Given the description of an element on the screen output the (x, y) to click on. 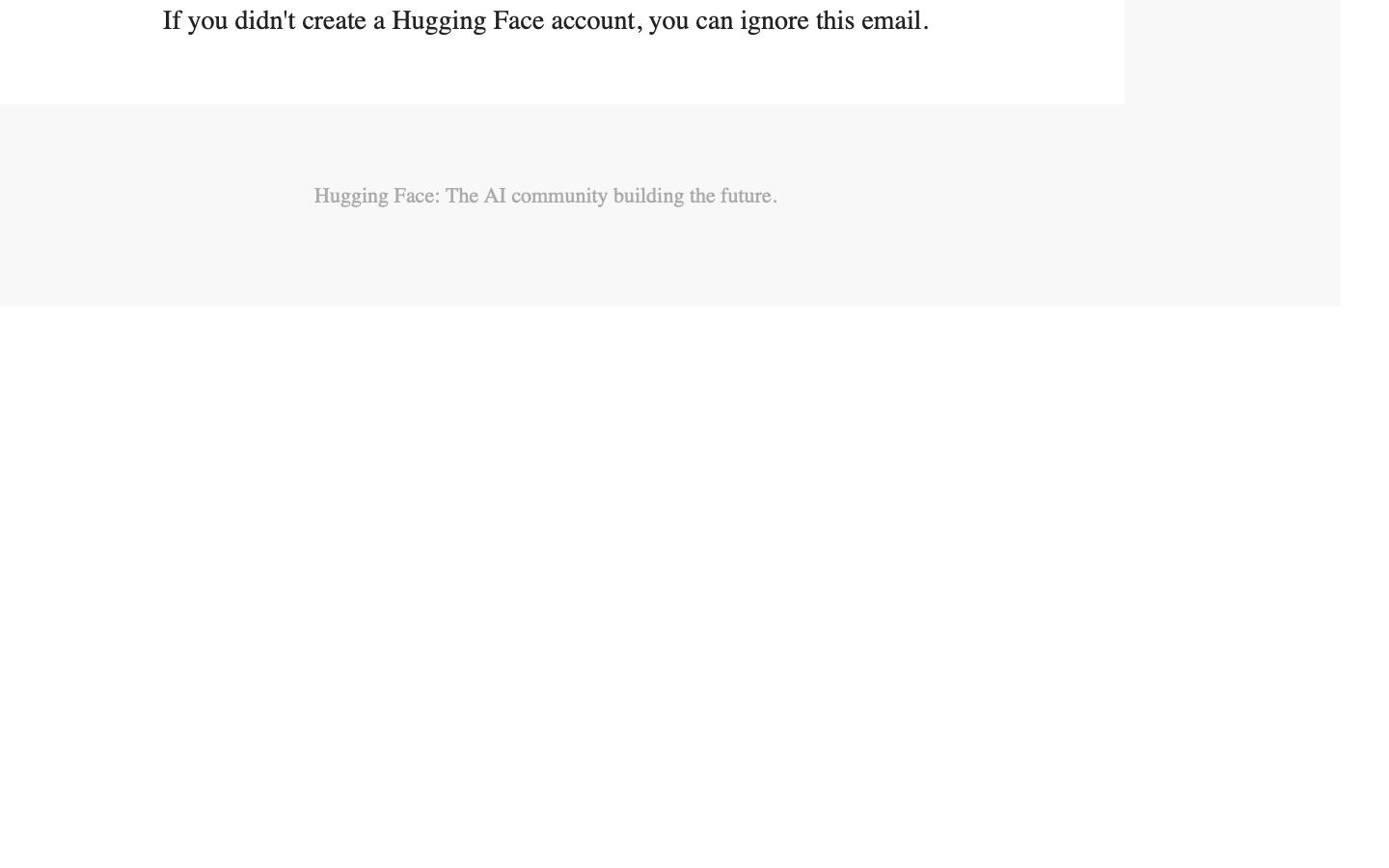
Hugging Face: The AI community building the future. Element type: AXStaticText (545, 195)
If you didn't create a Hugging Face account, you can ignore this email. Element type: AXStaticText (545, 19)
